Given the description of an element on the screen output the (x, y) to click on. 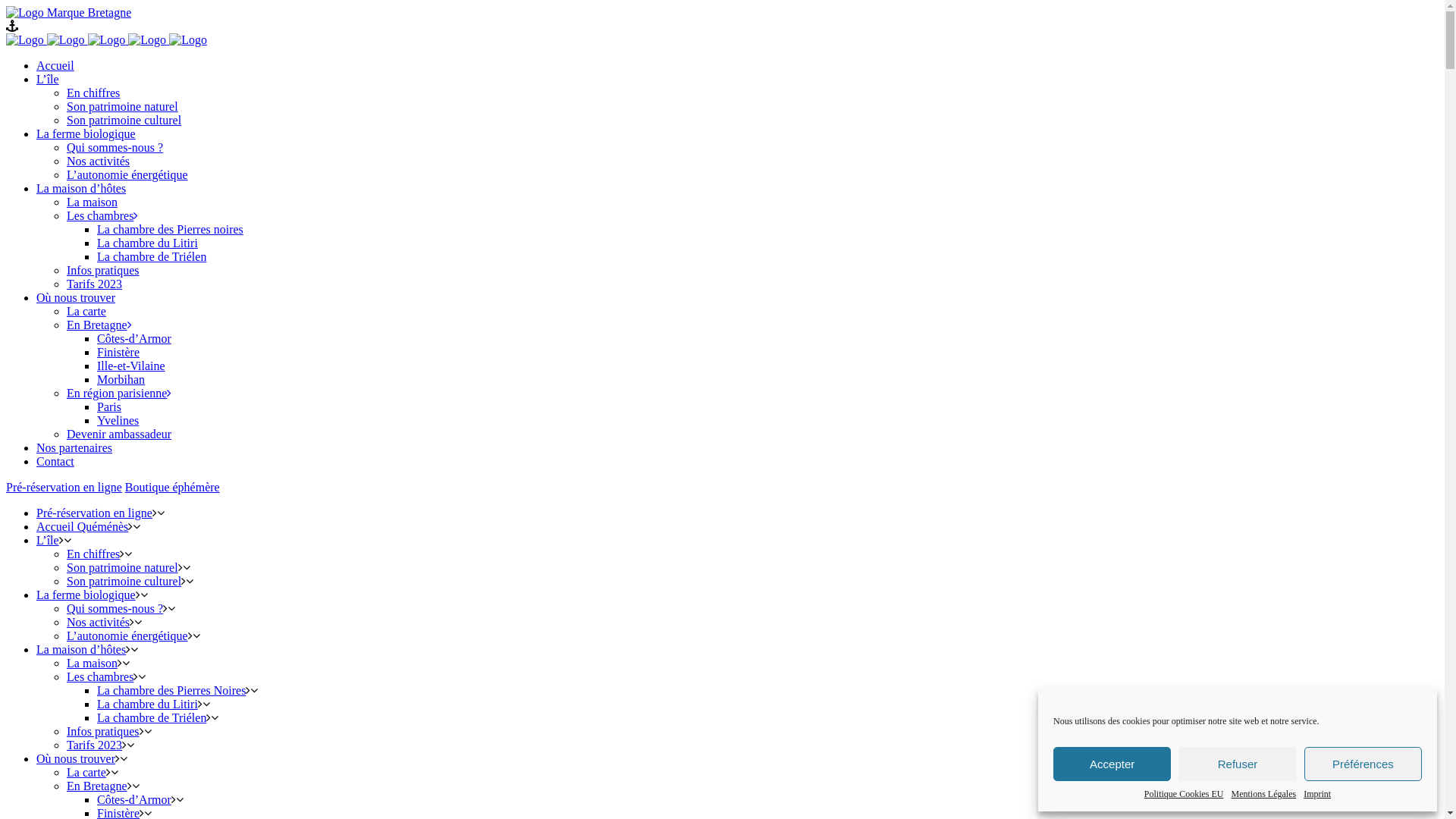
Ille-et-Vilaine Element type: text (131, 365)
Refuser Element type: text (1236, 763)
Tarifs 2023 Element type: text (94, 744)
Morbihan Element type: text (120, 379)
La carte Element type: text (86, 310)
Contact Element type: text (55, 461)
Infos pratiques Element type: text (102, 269)
En chiffres Element type: text (92, 553)
Qui sommes-nous ? Element type: text (114, 608)
En Bretagne Element type: text (96, 785)
Devenir ambassadeur Element type: text (118, 433)
Son patrimoine naturel Element type: text (122, 567)
Qui sommes-nous ? Element type: text (114, 147)
Politique Cookies EU Element type: text (1183, 794)
La chambre des Pierres noires Element type: text (170, 228)
Son patrimoine naturel Element type: text (122, 106)
La chambre du Litiri Element type: text (147, 242)
En Bretagne Element type: text (98, 324)
La chambre du Litiri Element type: text (147, 703)
Imprint Element type: text (1316, 794)
La chambre des Pierres Noires Element type: text (171, 690)
Nos partenaires Element type: text (74, 447)
La ferme biologique Element type: text (85, 133)
Son patrimoine culturel Element type: text (123, 580)
Tarifs 2023 Element type: text (94, 283)
La ferme biologique Element type: text (85, 594)
Yvelines Element type: text (117, 420)
Les chambres Element type: text (102, 215)
Paris Element type: text (109, 406)
La maison Element type: text (91, 201)
La carte Element type: text (86, 771)
Infos pratiques Element type: text (102, 730)
Les chambres Element type: text (99, 676)
Accueil Element type: text (55, 65)
En chiffres Element type: text (92, 92)
La maison Element type: text (91, 662)
Accepter Element type: text (1111, 763)
Son patrimoine culturel Element type: text (123, 119)
